Given the description of an element on the screen output the (x, y) to click on. 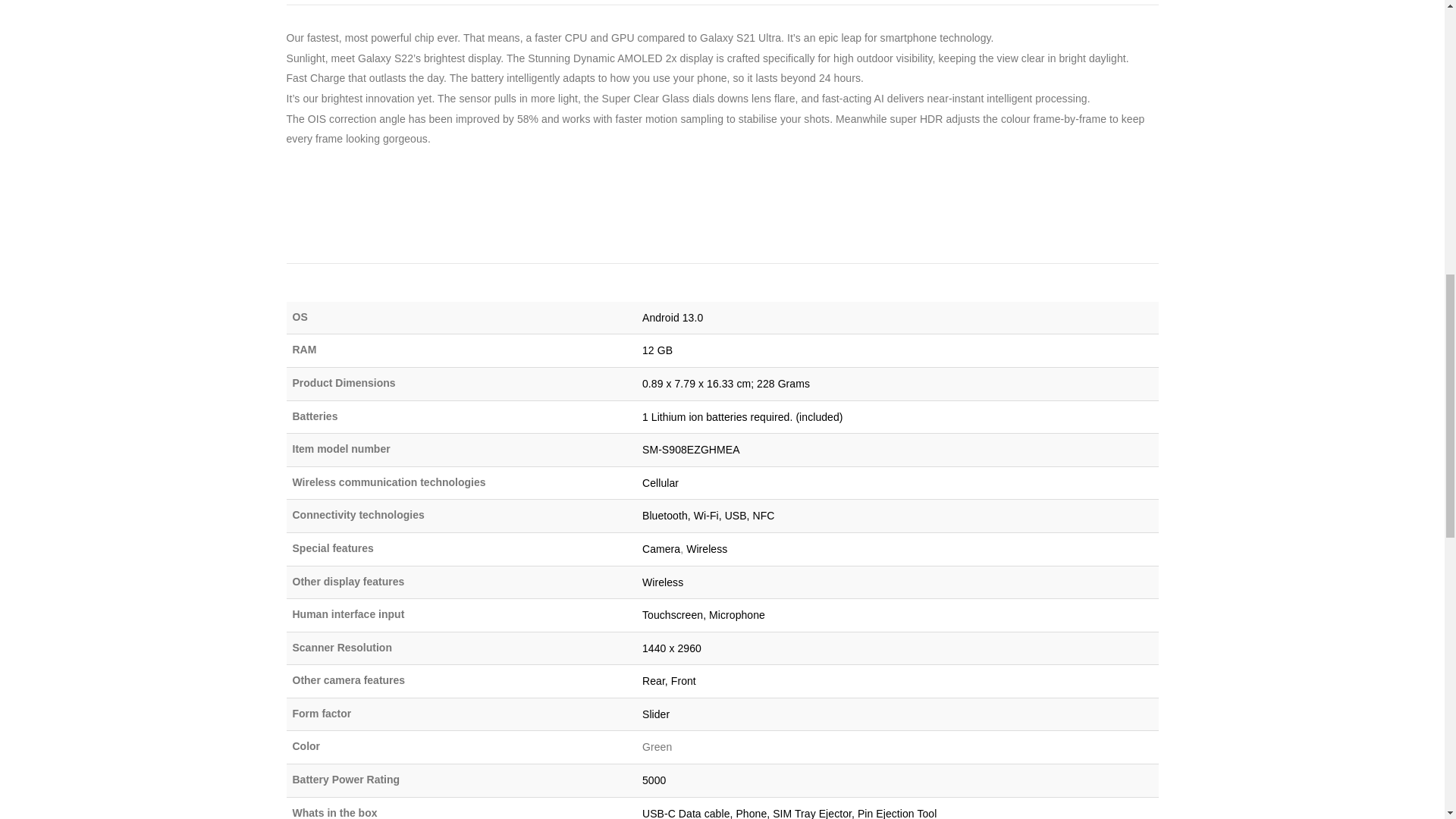
12 GB (657, 349)
0.89 x 7.79 x 16.33 cm; 228 Grams (725, 383)
Android 13.0 (672, 317)
